Given the description of an element on the screen output the (x, y) to click on. 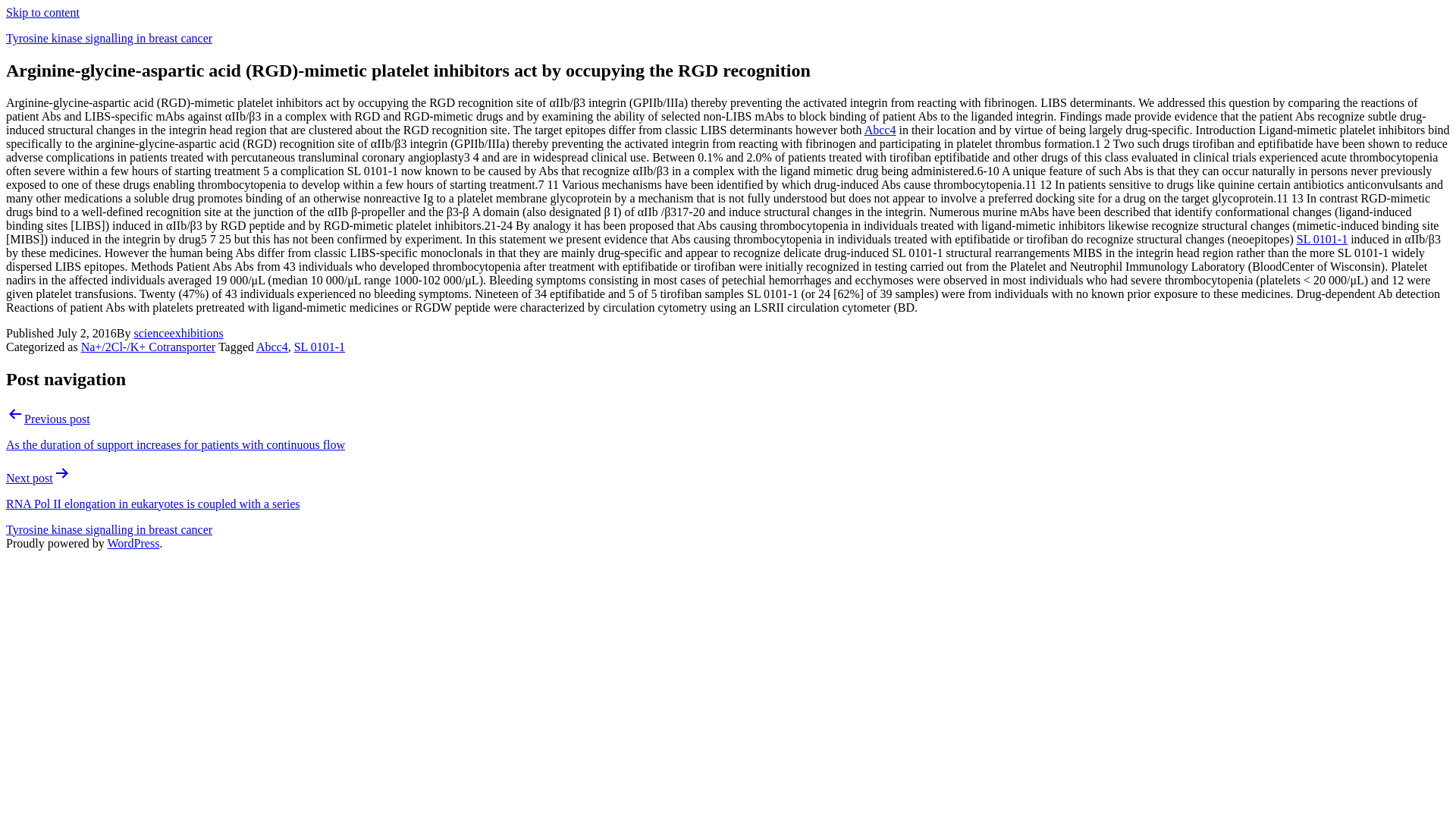
SL 0101-1 (1322, 238)
Abcc4 (880, 129)
Abcc4 (272, 346)
scienceexhibitions (177, 332)
Tyrosine kinase signalling in breast cancer (108, 529)
Tyrosine kinase signalling in breast cancer (108, 38)
Skip to content (42, 11)
SL 0101-1 (319, 346)
